Given the description of an element on the screen output the (x, y) to click on. 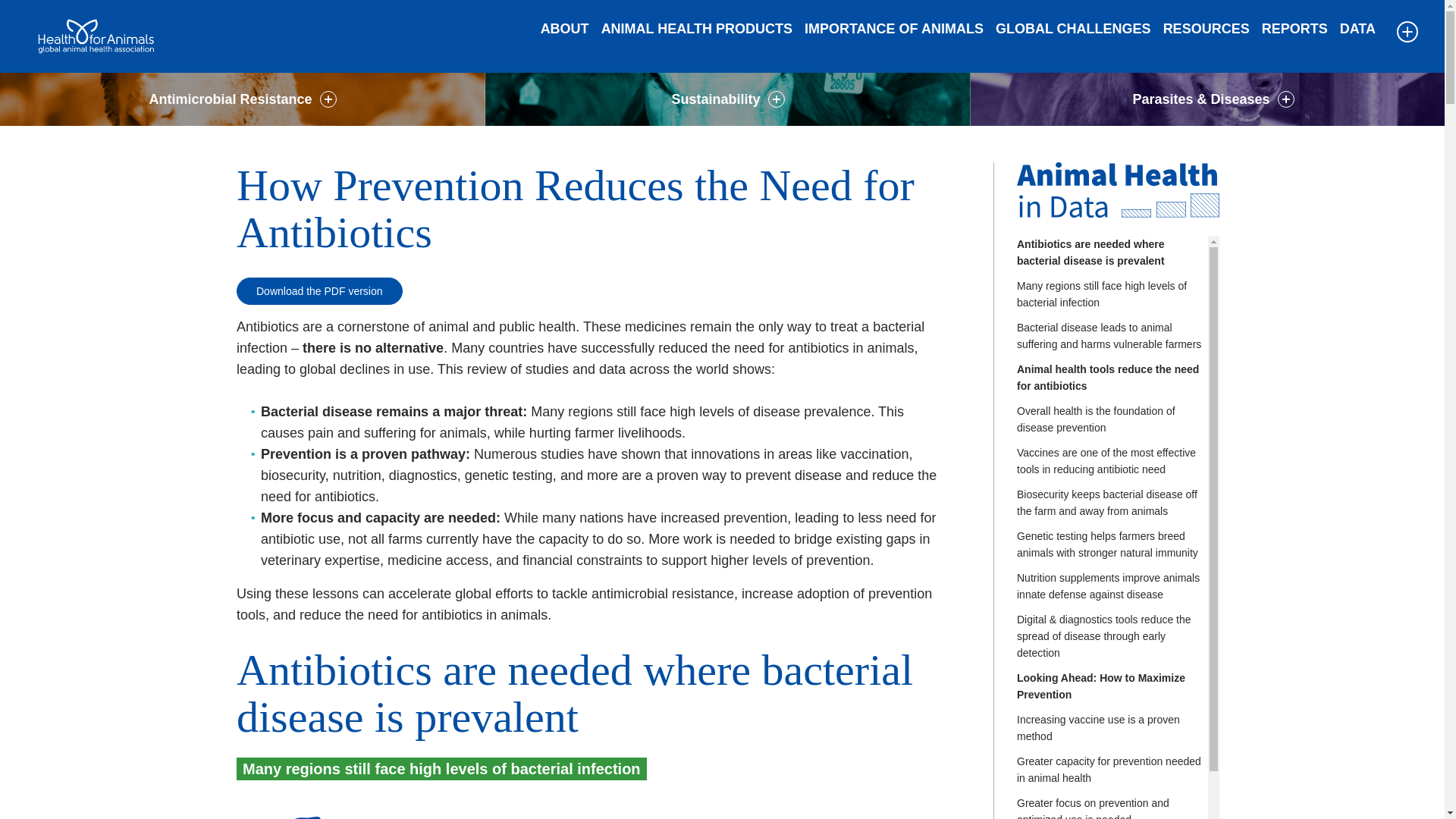
IMPORTANCE OF ANIMALS (893, 28)
RESOURCES (1206, 28)
ANIMAL HEALTH PRODUCTS (696, 28)
ABOUT (564, 28)
GLOBAL CHALLENGES (1073, 28)
